Given the description of an element on the screen output the (x, y) to click on. 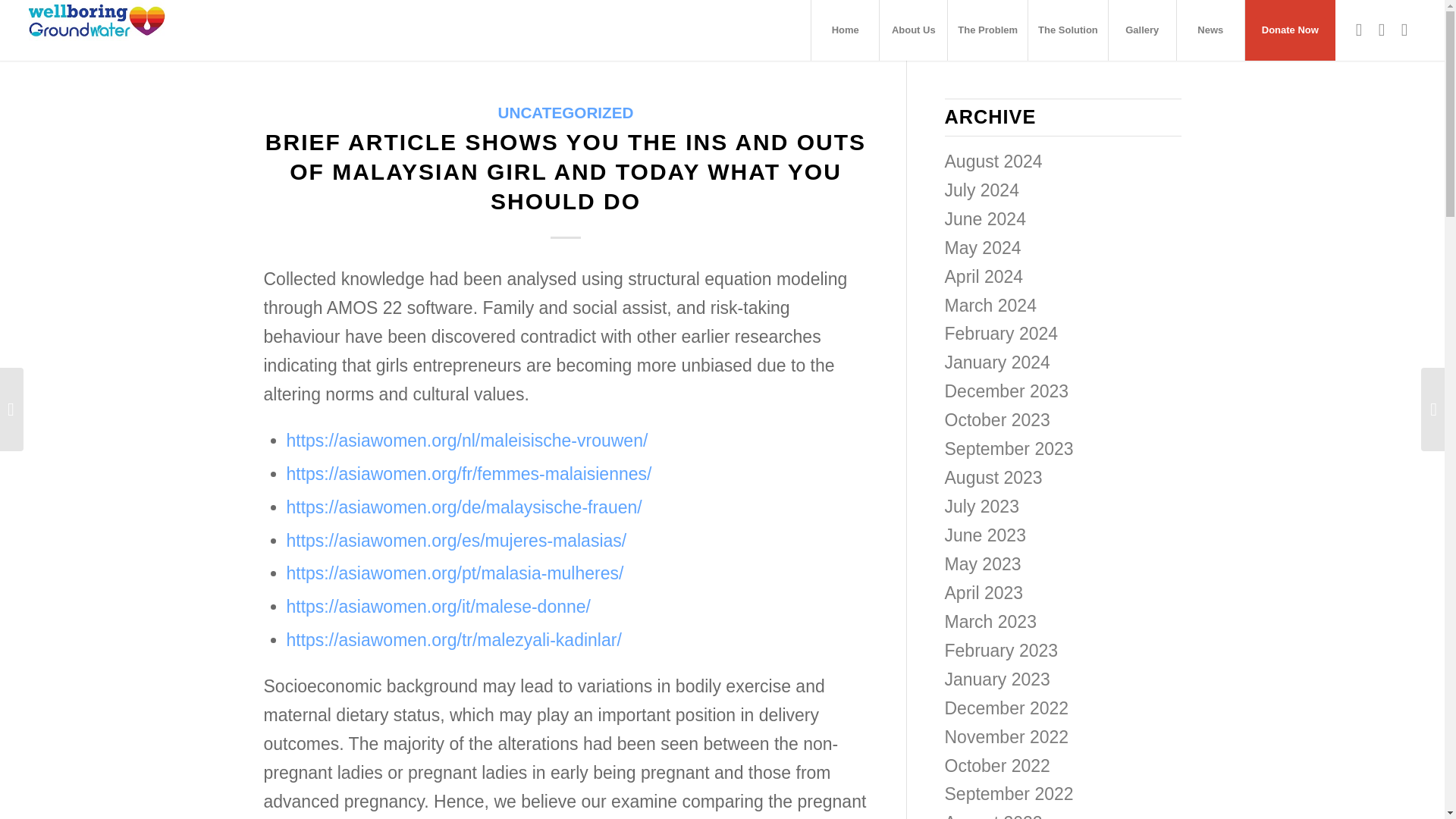
News (1210, 30)
UNCATEGORIZED (565, 112)
Instagram (1404, 29)
About Us (913, 30)
March 2024 (990, 305)
February 2024 (1001, 333)
June 2024 (985, 219)
Gallery (1142, 30)
The Solution (1067, 30)
